Given the description of an element on the screen output the (x, y) to click on. 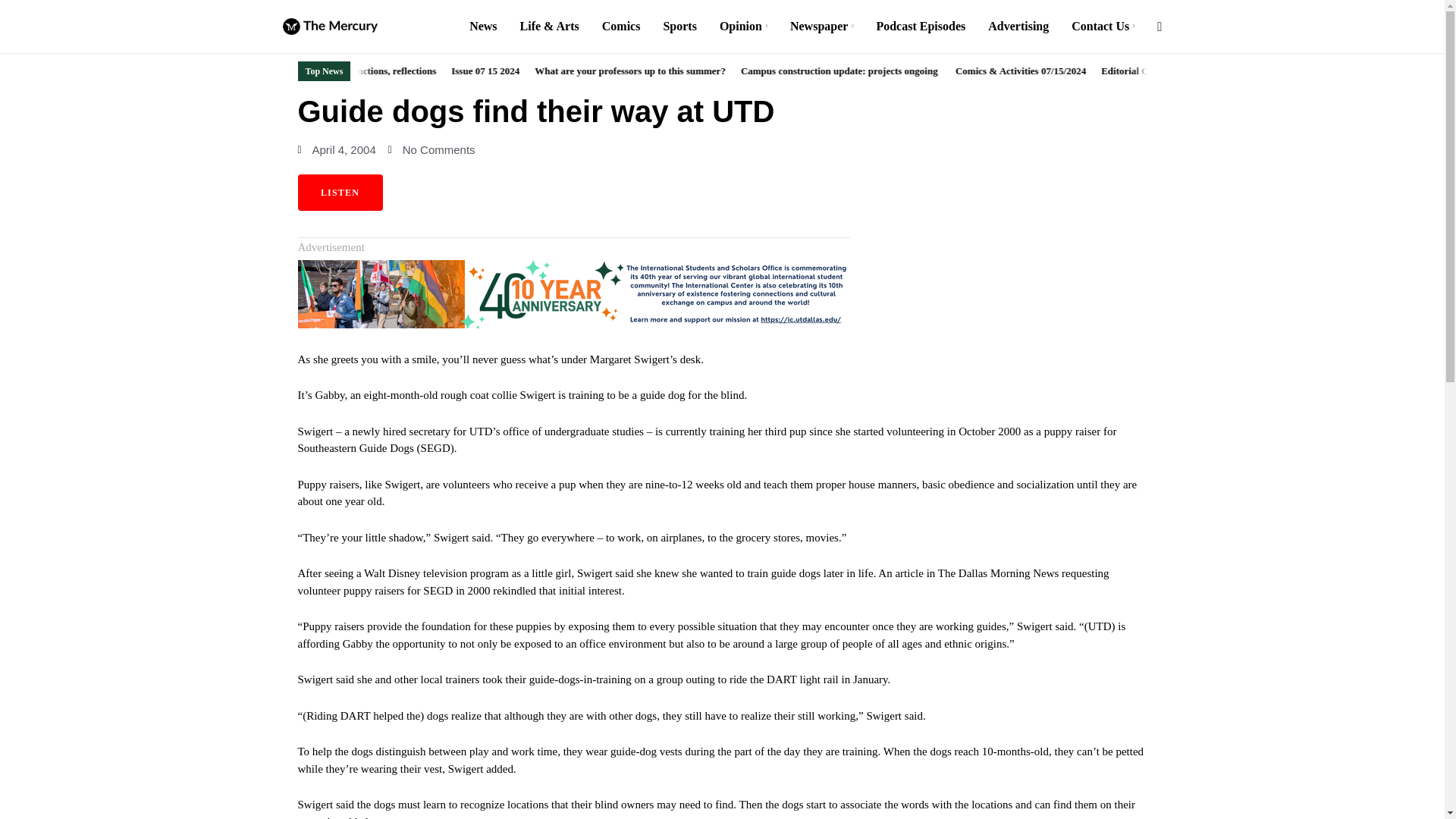
Contact Us (1102, 26)
Advertising (1018, 26)
Podcast Episodes (920, 26)
Opinion (743, 26)
Text To Audio:  Tap to listen post. (339, 192)
Newspaper (821, 26)
